Given the description of an element on the screen output the (x, y) to click on. 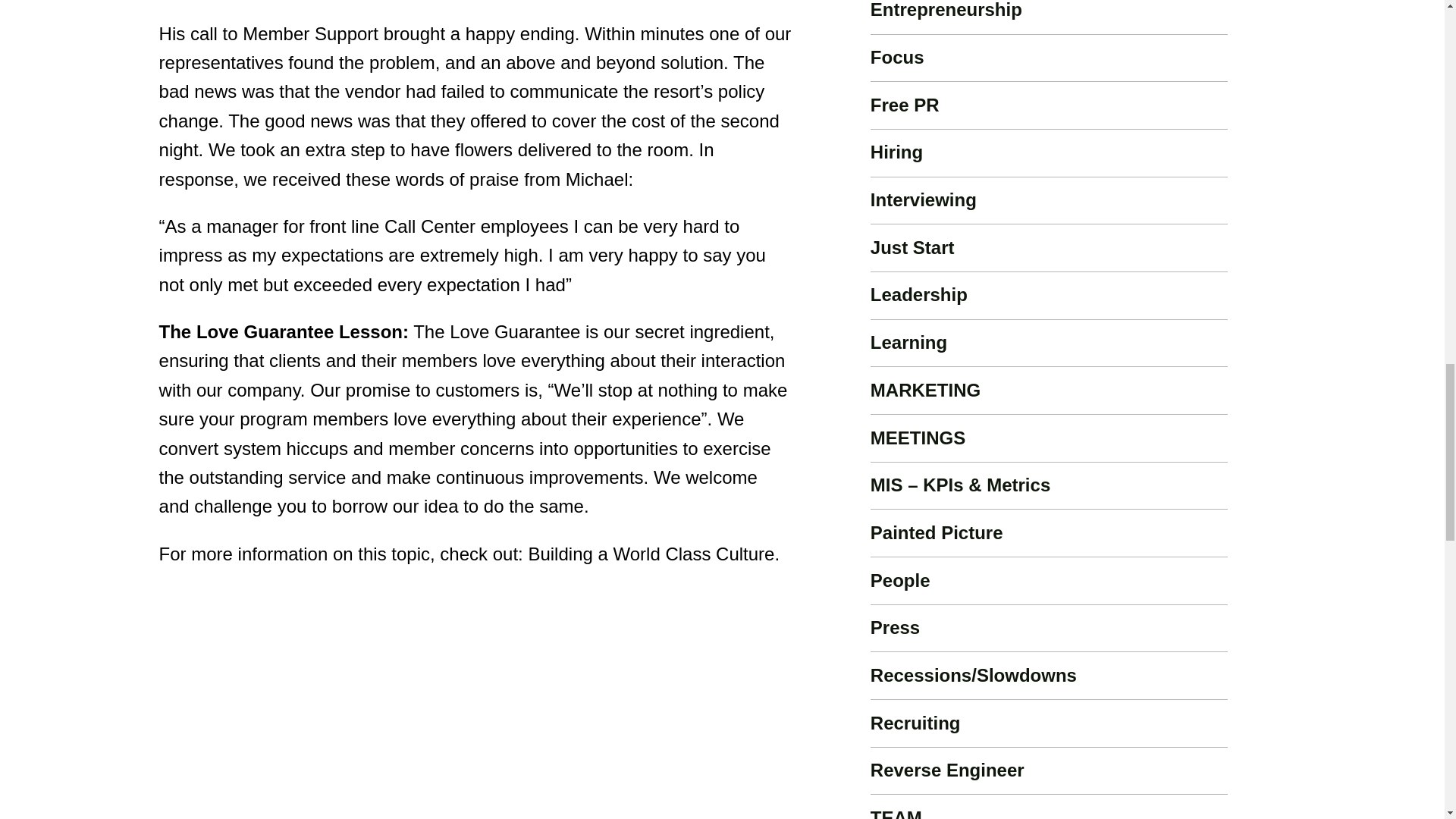
Hiring (896, 151)
Leadership (919, 294)
Press (895, 627)
Recruiting (915, 722)
Just Start (912, 247)
Reverse Engineer (947, 770)
Focus (897, 56)
People (900, 580)
MARKETING (924, 390)
MEETINGS (917, 437)
Free PR (904, 105)
Interviewing (923, 199)
Entrepreneurship (946, 9)
Painted Picture (936, 532)
Learning (908, 342)
